Given the description of an element on the screen output the (x, y) to click on. 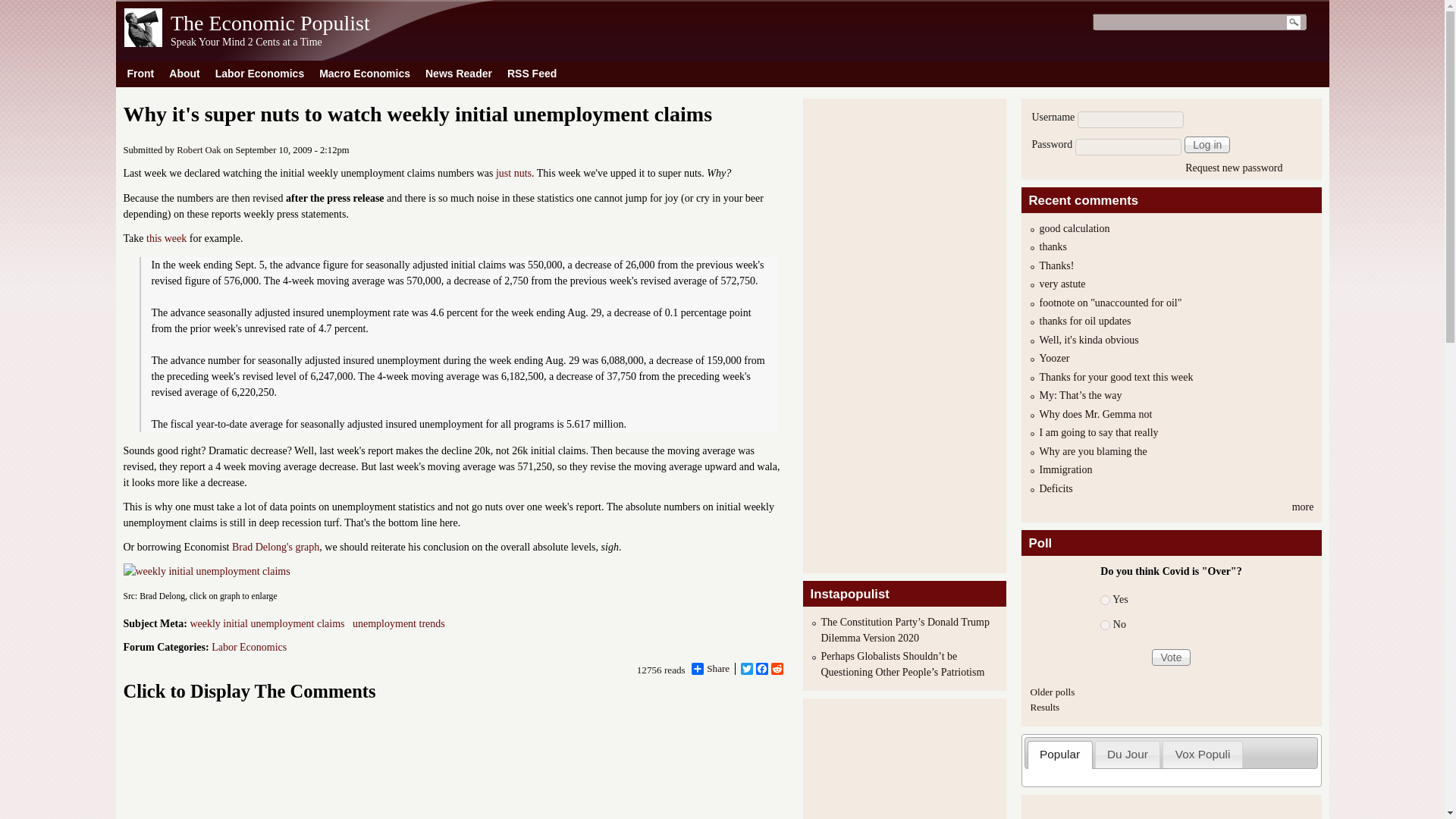
this week (166, 238)
News Aggregator and Mega Blog Roll  (458, 73)
View user profile. (198, 149)
Robert Oak (198, 149)
Labor Economics (259, 73)
News Reader (458, 73)
unemployment trends (398, 623)
weekly initial unemployment claims (266, 623)
The Economic Populist (142, 43)
Home page (269, 23)
Brad Delong's graph (274, 546)
294 (1104, 624)
Macro Economics (364, 73)
293 (1104, 600)
Front (140, 73)
